Given the description of an element on the screen output the (x, y) to click on. 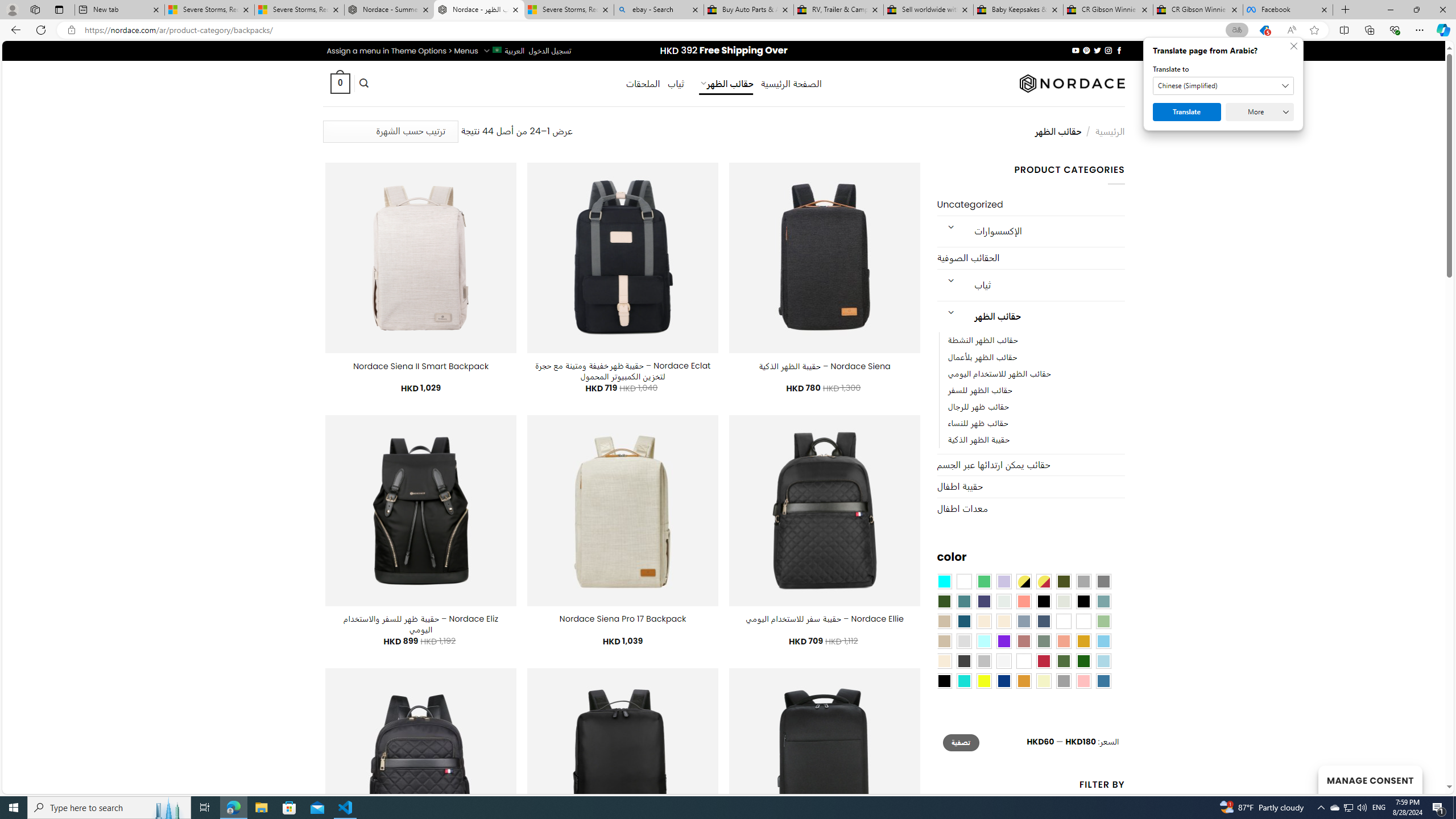
Light Purple (1003, 581)
MANAGE CONSENT (1369, 779)
Uncategorized (1030, 204)
Black-Brown (1082, 601)
Light Taupe (944, 640)
